Given the description of an element on the screen output the (x, y) to click on. 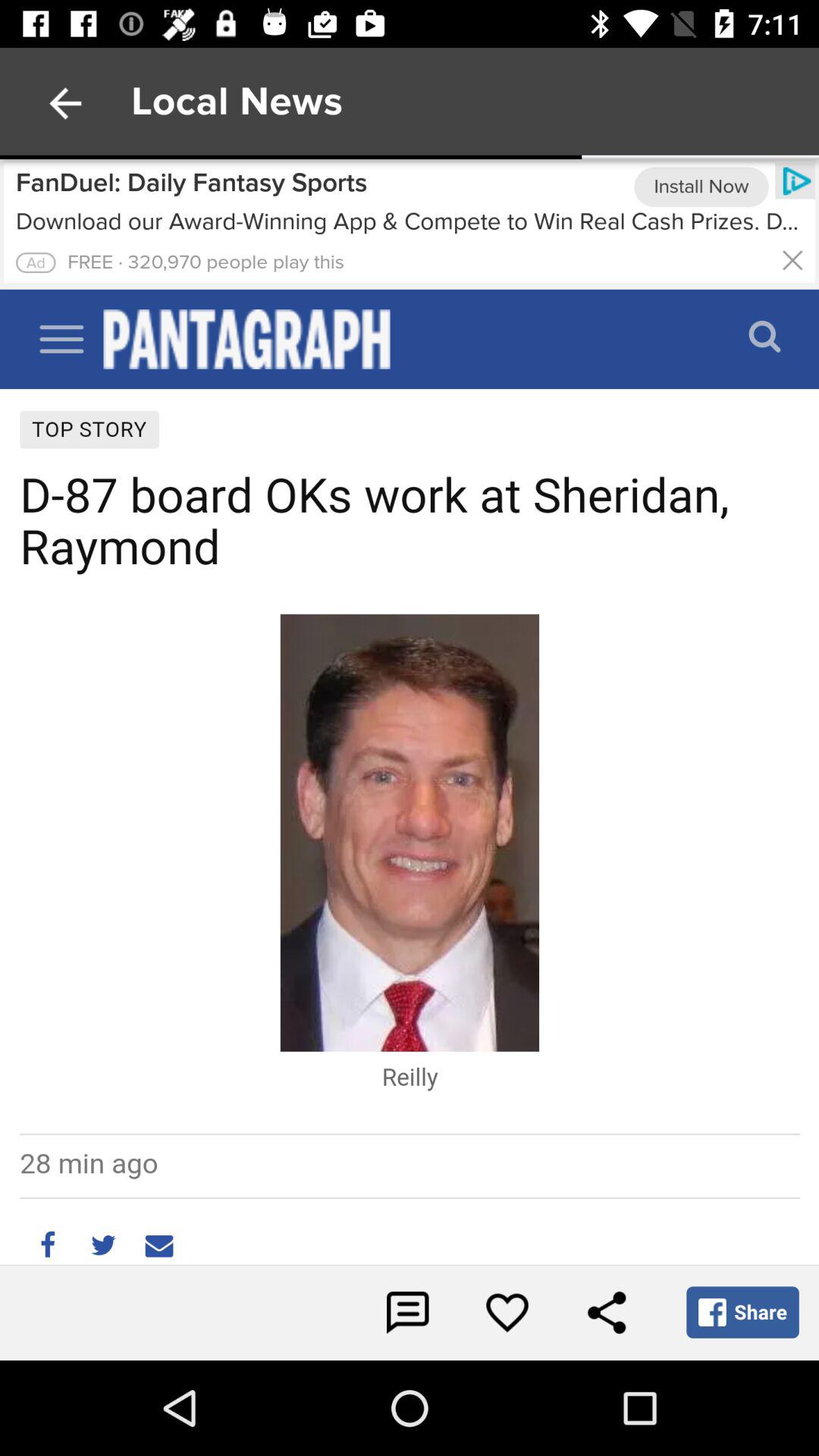
share the story (606, 1312)
